Given the description of an element on the screen output the (x, y) to click on. 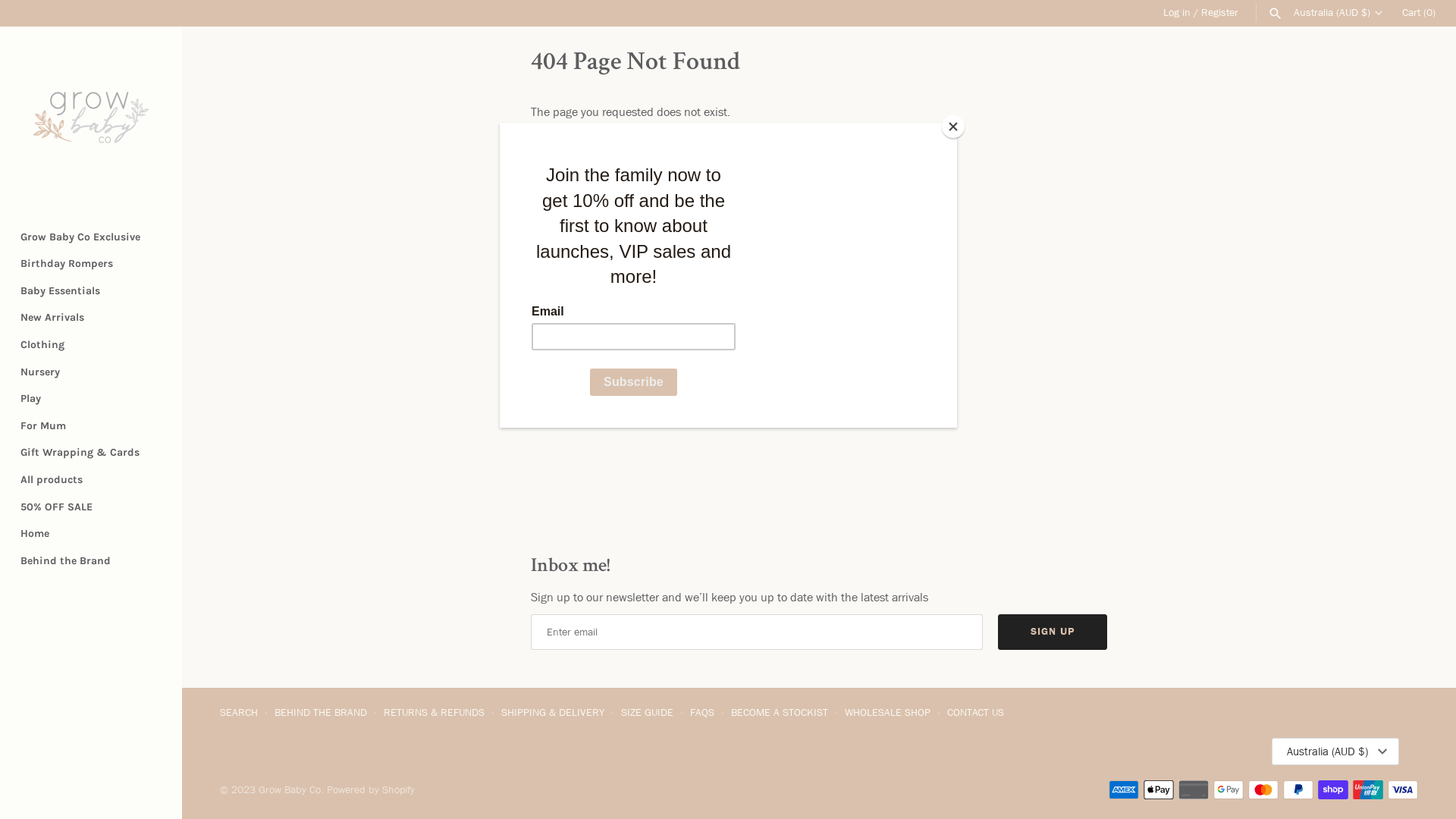
Register Element type: text (1214, 12)
SEARCH Element type: text (238, 712)
New Arrivals Element type: text (90, 317)
Baby Essentials Element type: text (90, 290)
SIGN UP Element type: text (1052, 631)
BEHIND THE BRAND Element type: text (320, 712)
SIZE GUIDE Element type: text (647, 712)
Home Element type: text (90, 533)
Log in Element type: text (1172, 12)
Grow Baby Co Element type: text (289, 789)
Cart (0) Element type: text (1418, 12)
Grow Baby Co Exclusive Element type: text (90, 237)
Play Element type: text (90, 398)
All products Element type: text (90, 479)
For Mum Element type: text (90, 425)
Clothing Element type: text (90, 344)
Gift Wrapping & Cards Element type: text (90, 452)
BECOME A STOCKIST Element type: text (779, 712)
CONTINUE SHOPPING Element type: text (619, 151)
Behind the Brand Element type: text (90, 560)
SHIPPING & DELIVERY Element type: text (552, 712)
CONTACT US Element type: text (975, 712)
FAQS Element type: text (702, 712)
Australia (AUD $) Element type: text (1337, 12)
Australia (AUD $) Element type: text (1335, 751)
Powered by Shopify Element type: text (370, 789)
RETURNS & REFUNDS Element type: text (433, 712)
Nursery Element type: text (90, 371)
50% OFF SALE Element type: text (90, 506)
Birthday Rompers Element type: text (90, 263)
Grow Baby Co Element type: hover (91, 117)
WHOLESALE SHOP Element type: text (887, 712)
